Given the description of an element on the screen output the (x, y) to click on. 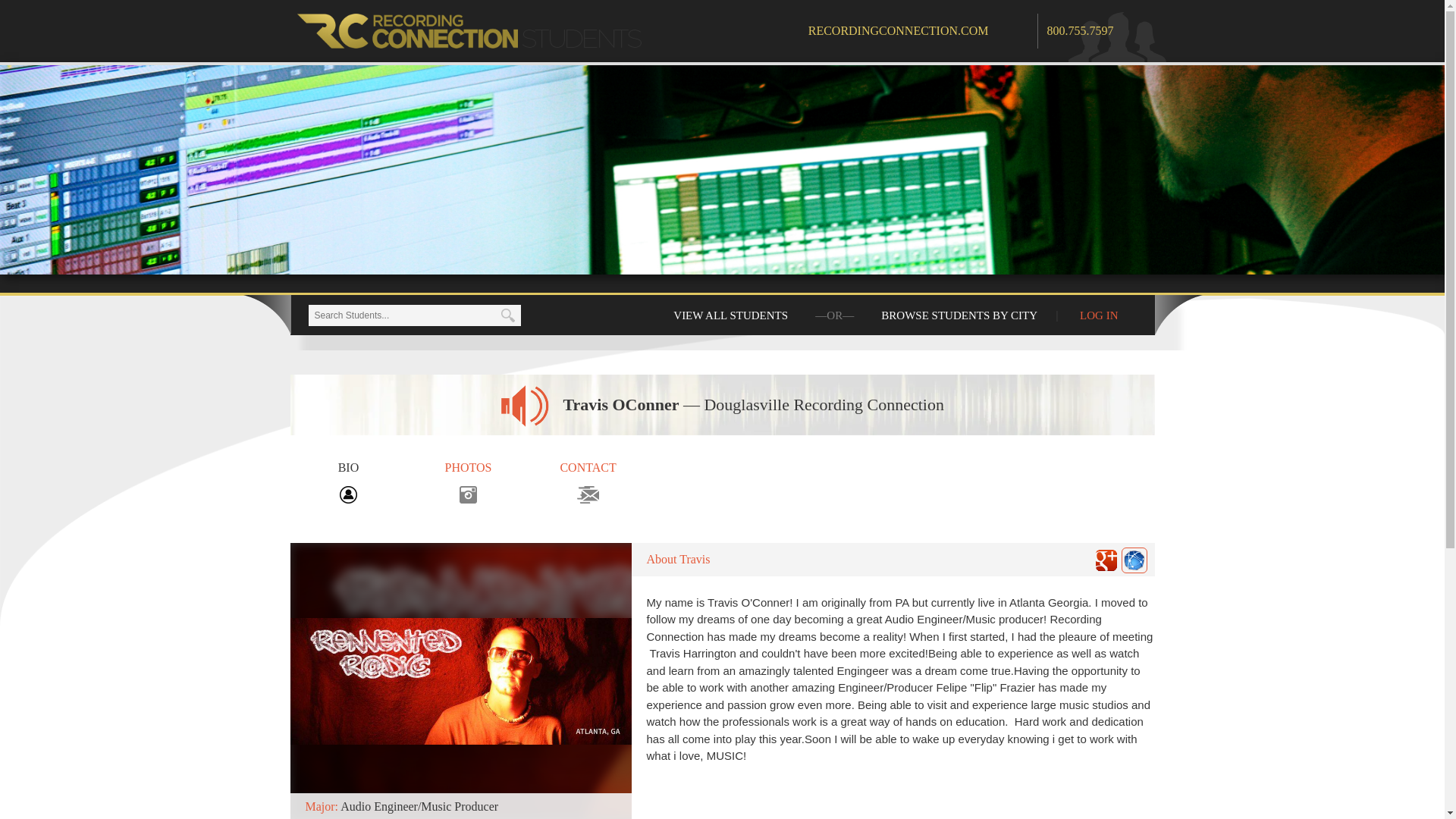
800.755.7597 (1079, 30)
Travis OConner's Website (1134, 560)
BROWSE STUDENTS BY CITY (959, 315)
CONTACT (587, 480)
PHOTOS (468, 480)
LOG IN (1098, 315)
VIEW ALL STUDENTS (730, 315)
BIO (347, 480)
RECORDINGCONNECTION.COM (923, 30)
